Given the description of an element on the screen output the (x, y) to click on. 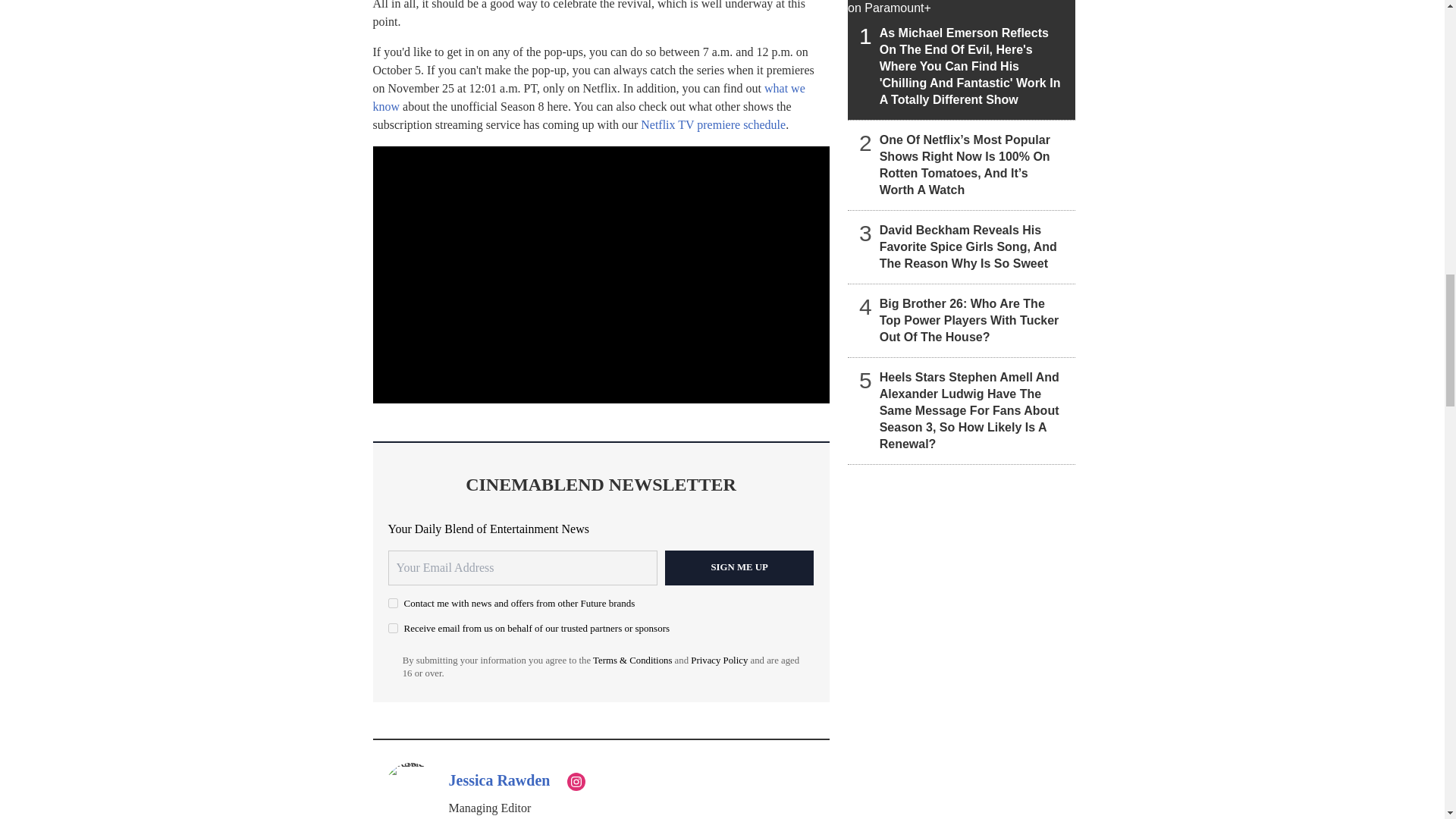
on (392, 603)
Sign me up (739, 567)
on (392, 628)
